Given the description of an element on the screen output the (x, y) to click on. 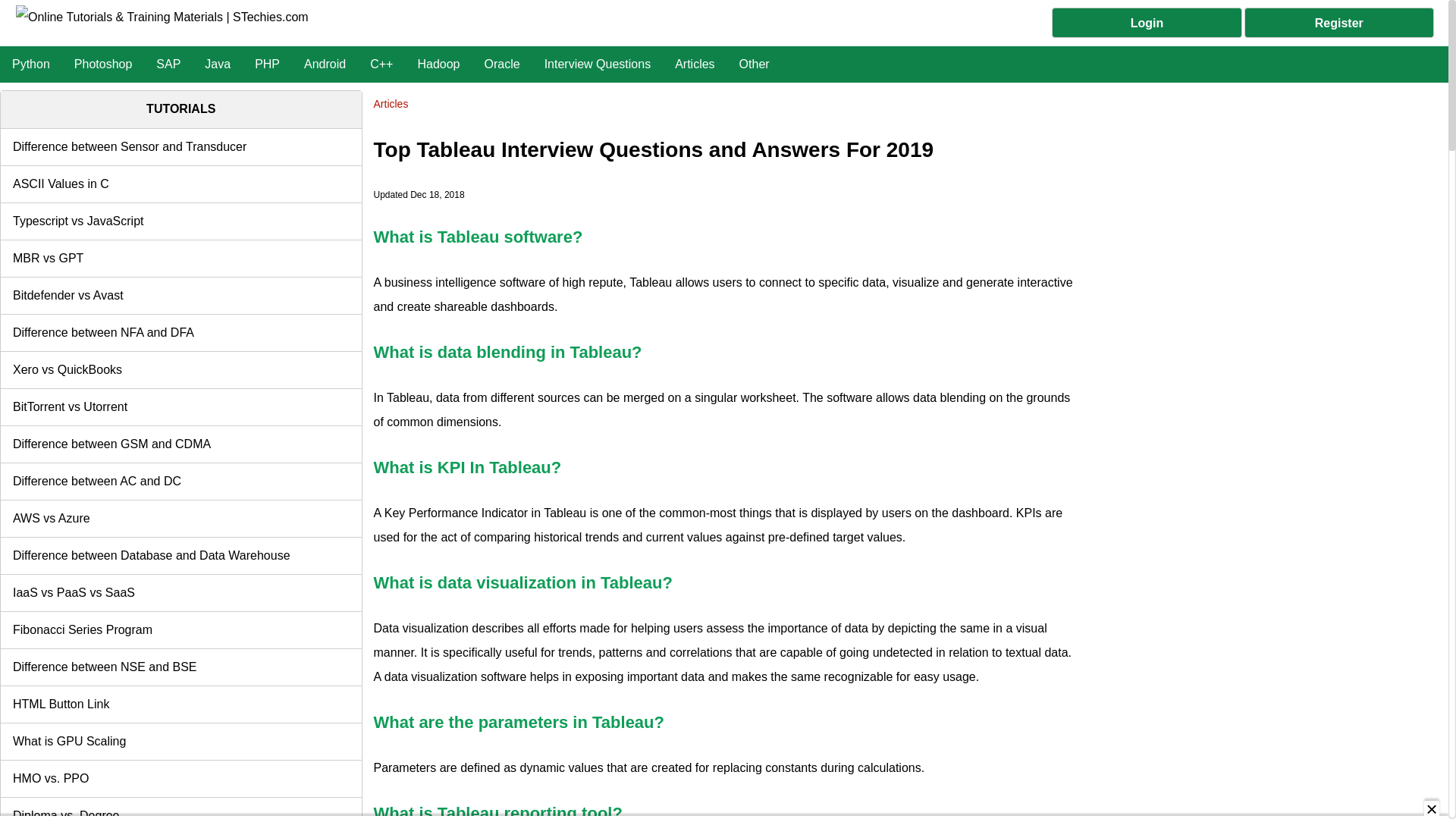
Photoshop (103, 63)
Other (753, 63)
Java (217, 63)
Python (31, 63)
SAP (168, 63)
Interview Questions (597, 63)
Oracle (501, 63)
Android (325, 63)
Articles (694, 63)
PHP (267, 63)
